Given the description of an element on the screen output the (x, y) to click on. 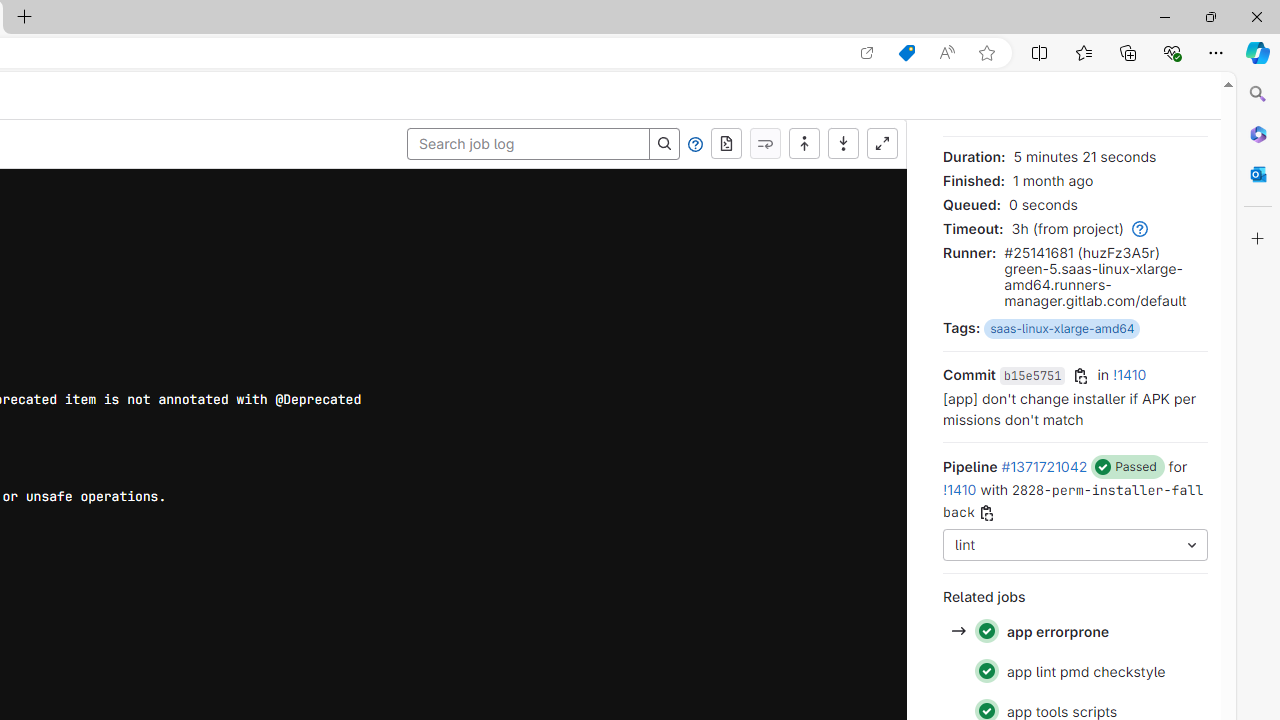
2828-perm-installer-fallback (1073, 500)
b15e5751 (1032, 376)
Scroll to bottom (843, 143)
Show complete raw (726, 143)
Status: Passed app errorprone (1073, 631)
#1371721042 (1044, 466)
